Given the description of an element on the screen output the (x, y) to click on. 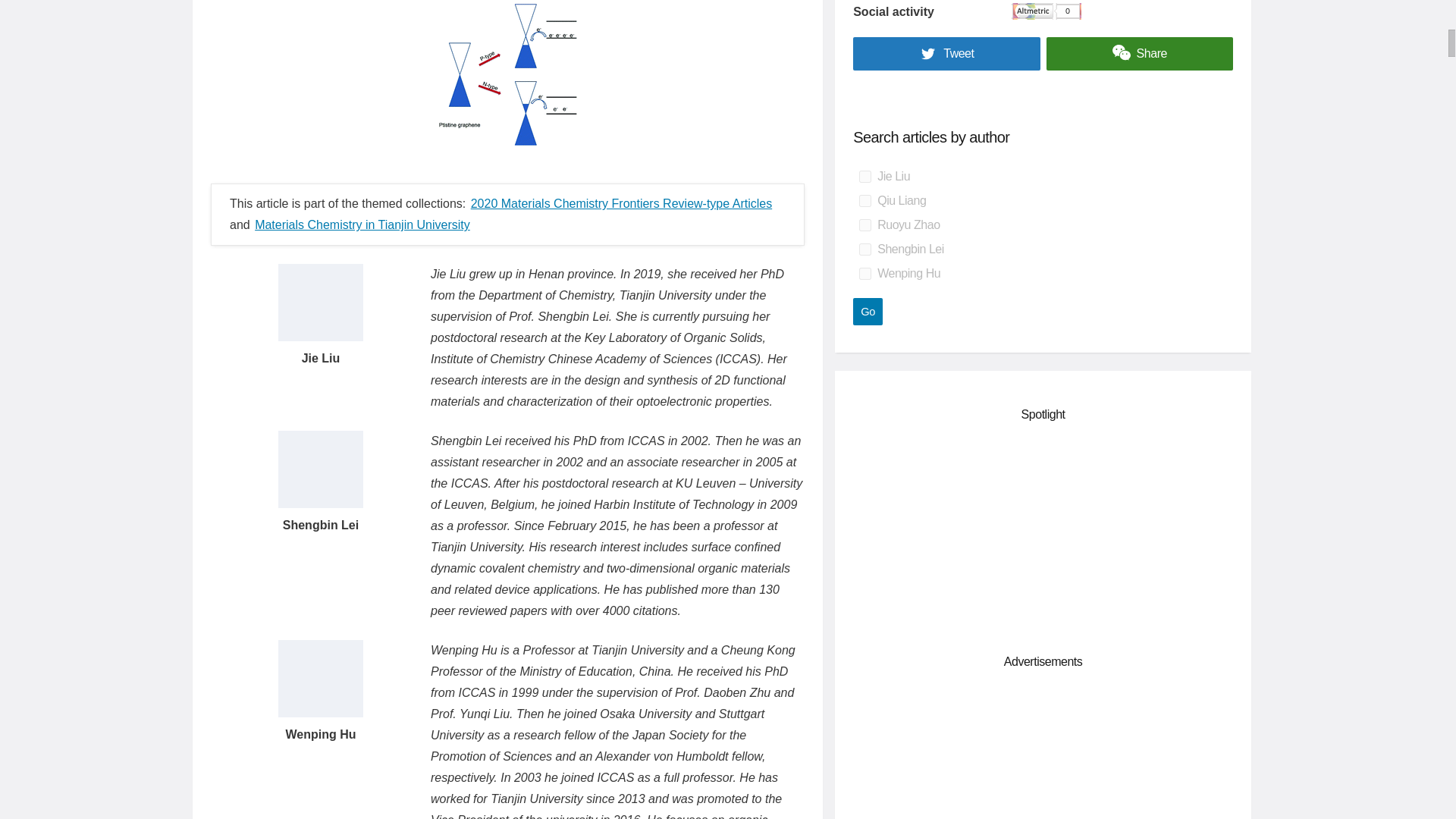
Go (867, 311)
on (864, 273)
on (864, 249)
2020 Materials Chemistry Frontiers Review-type Articles (620, 203)
on (864, 200)
on (864, 224)
on (864, 176)
Materials Chemistry in Tianjin University (362, 224)
